Given the description of an element on the screen output the (x, y) to click on. 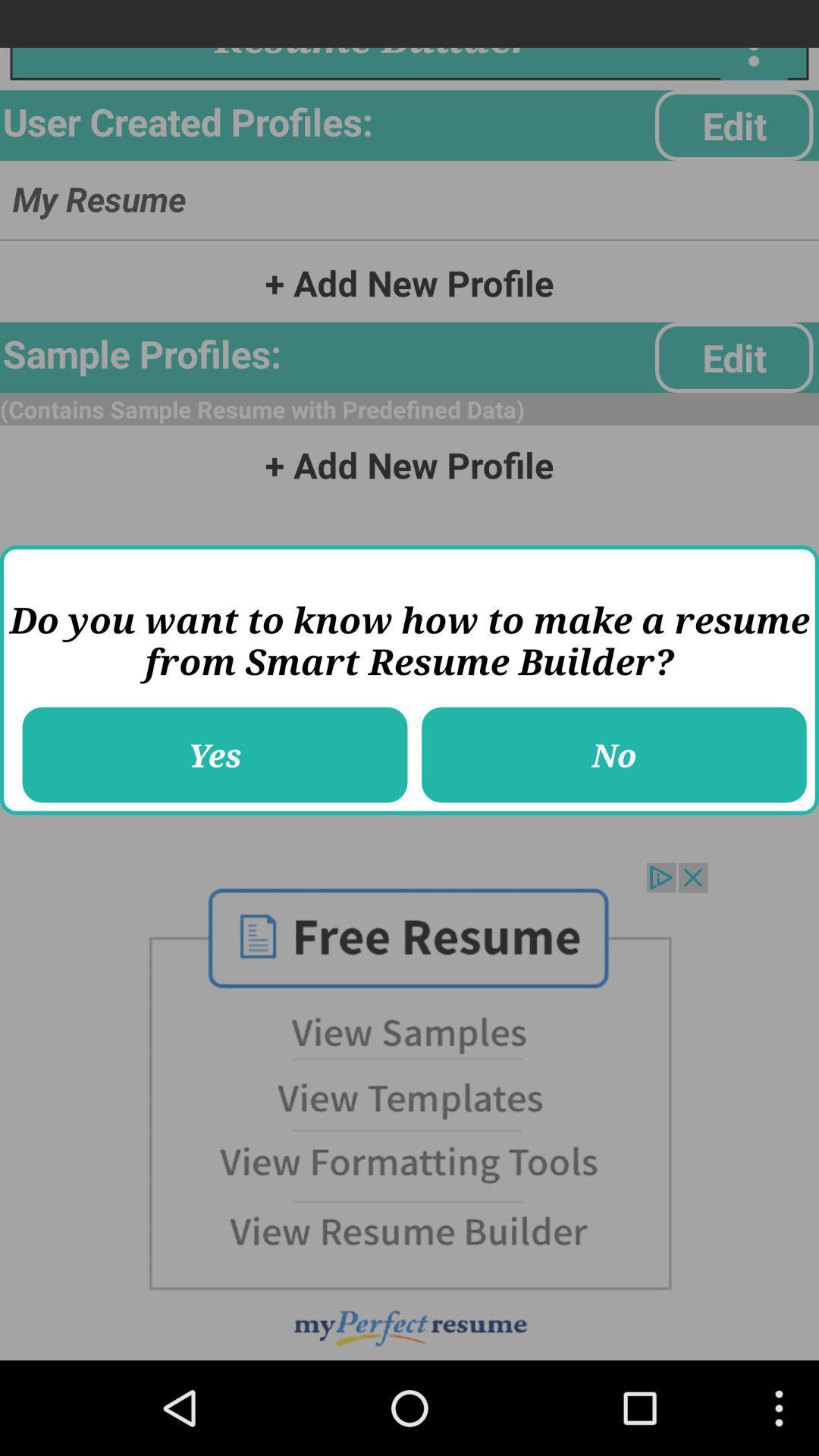
choose yes icon (214, 754)
